Given the description of an element on the screen output the (x, y) to click on. 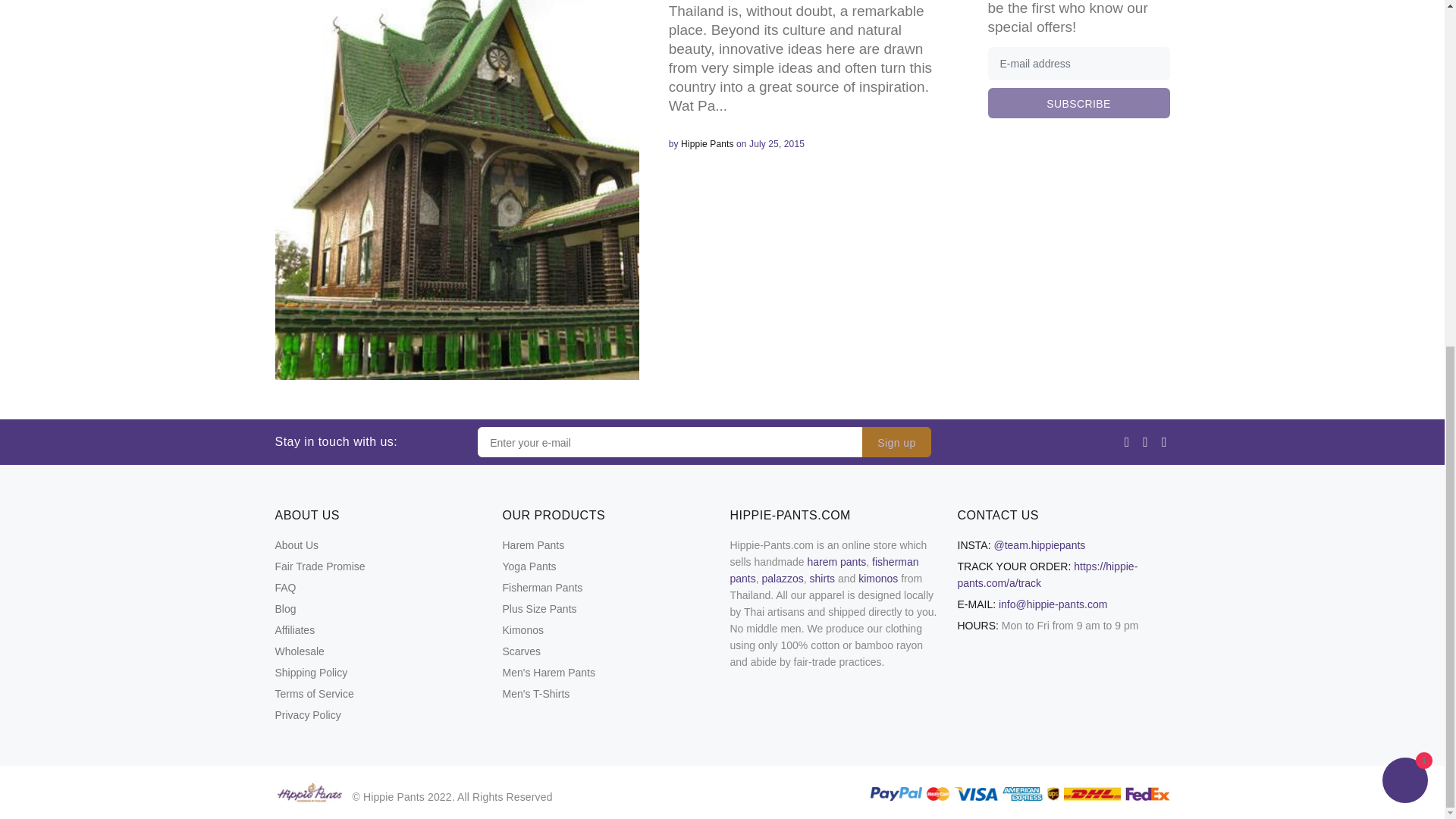
Shopify online store chat (1404, 187)
